Given the description of an element on the screen output the (x, y) to click on. 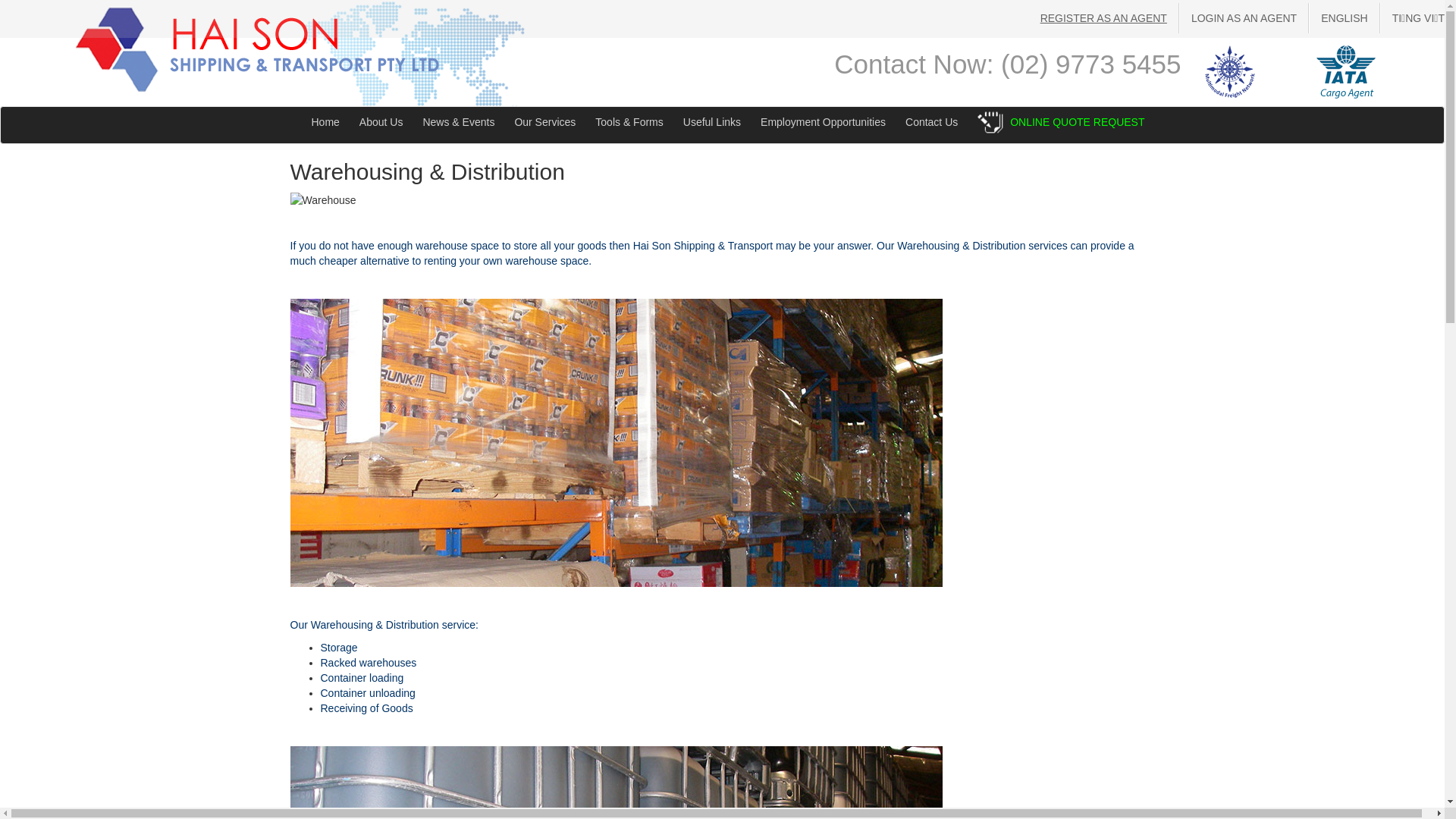
Contact Us Element type: text (931, 121)
Hai Son Shipping & Transport Element type: hover (257, 48)
Home Element type: text (325, 121)
Useful Links Element type: text (711, 121)
Employment Opportunities Element type: text (822, 121)
ENGLISH Element type: text (1343, 18)
Our Services Element type: text (544, 121)
Warehouse Element type: hover (322, 199)
Hai Son Shipping & Transport Element type: hover (257, 49)
MFN Element type: hover (1229, 71)
Tools & Forms Element type: text (628, 121)
News & Events Element type: text (458, 121)
ONLINE QUOTE REQUEST Element type: text (1077, 121)
REGISTER AS AN AGENT Element type: text (1104, 18)
LOGIN AS AN AGENT Element type: text (1243, 18)
About Us Element type: text (381, 121)
Warehouse Element type: hover (615, 442)
Cargo Agent Element type: hover (1345, 71)
